Given the description of an element on the screen output the (x, y) to click on. 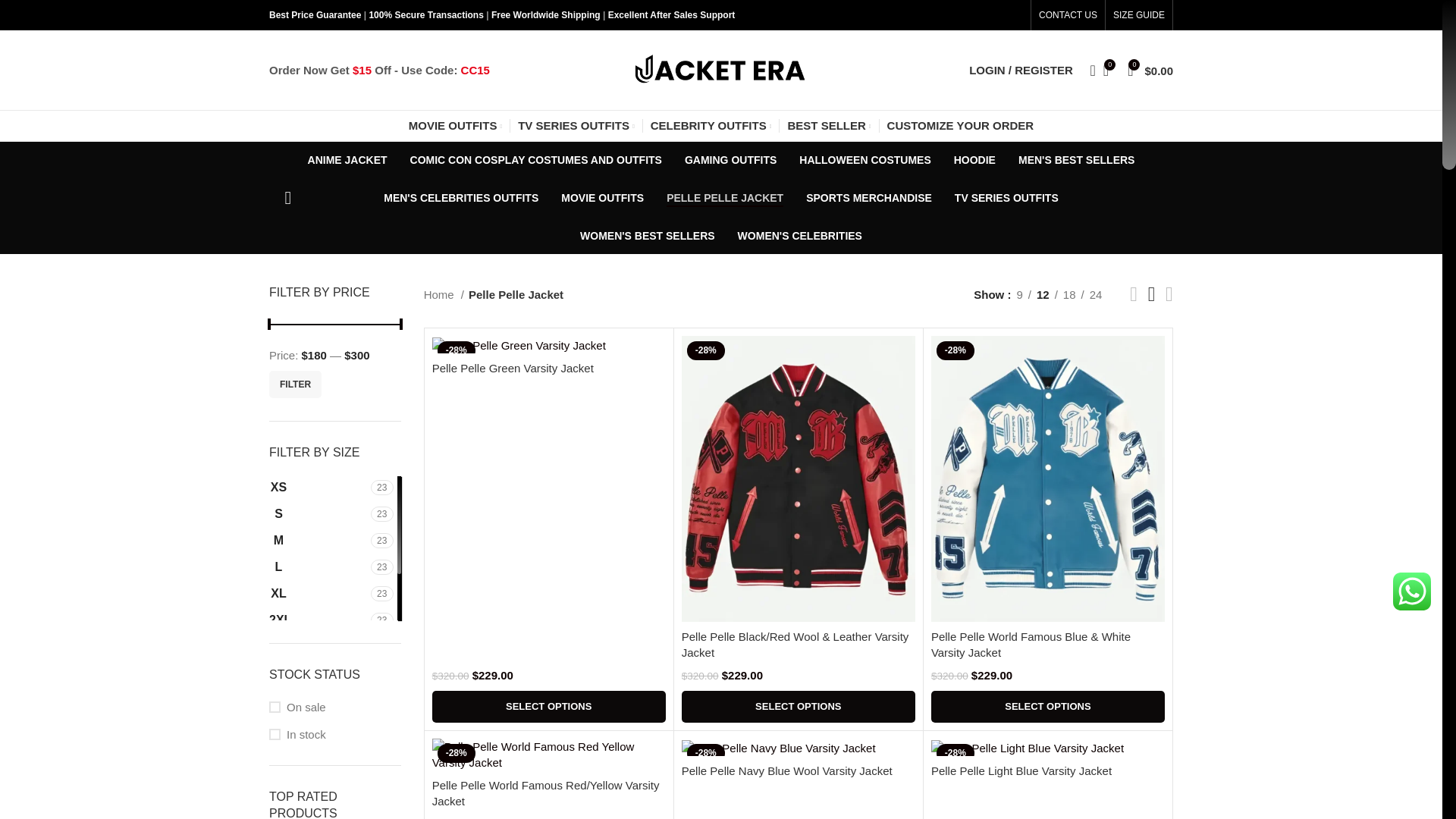
SIZE GUIDE (1138, 15)
My account (1020, 69)
ANIME JACKET (347, 160)
COMIC CON COSPLAY COSTUMES AND OUTFITS (536, 160)
BEST SELLER (828, 125)
CELEBRITY OUTFITS (710, 125)
TV SERIES OUTFITS (575, 125)
CONTACT US (1068, 15)
GAMING OUTFITS (730, 160)
CUSTOMIZE YOUR ORDER (959, 125)
MOVIE OUTFITS (455, 125)
Shopping cart (335, 547)
